Given the description of an element on the screen output the (x, y) to click on. 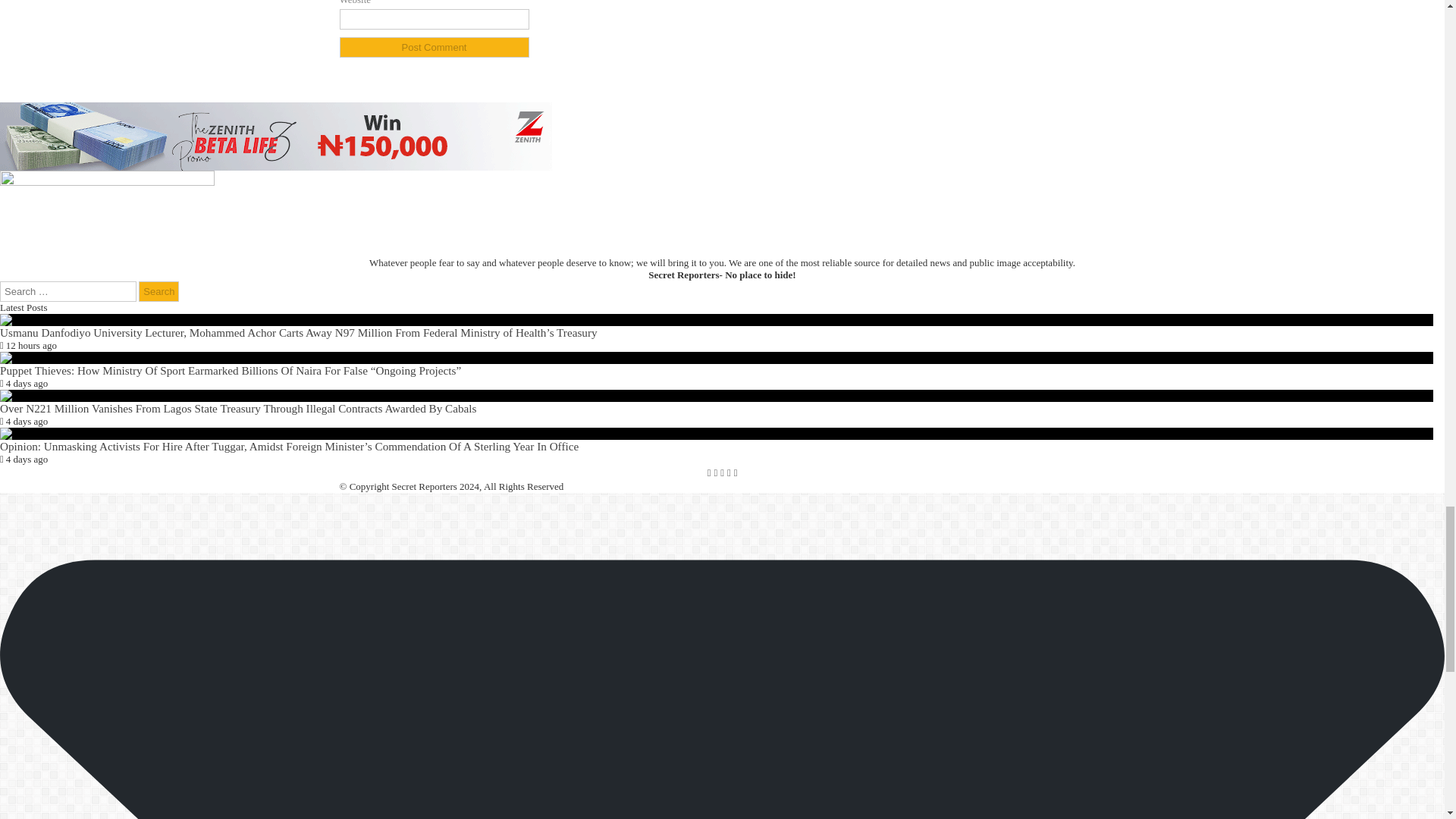
Post Comment (434, 46)
Search (158, 291)
Search (158, 291)
